Given the description of an element on the screen output the (x, y) to click on. 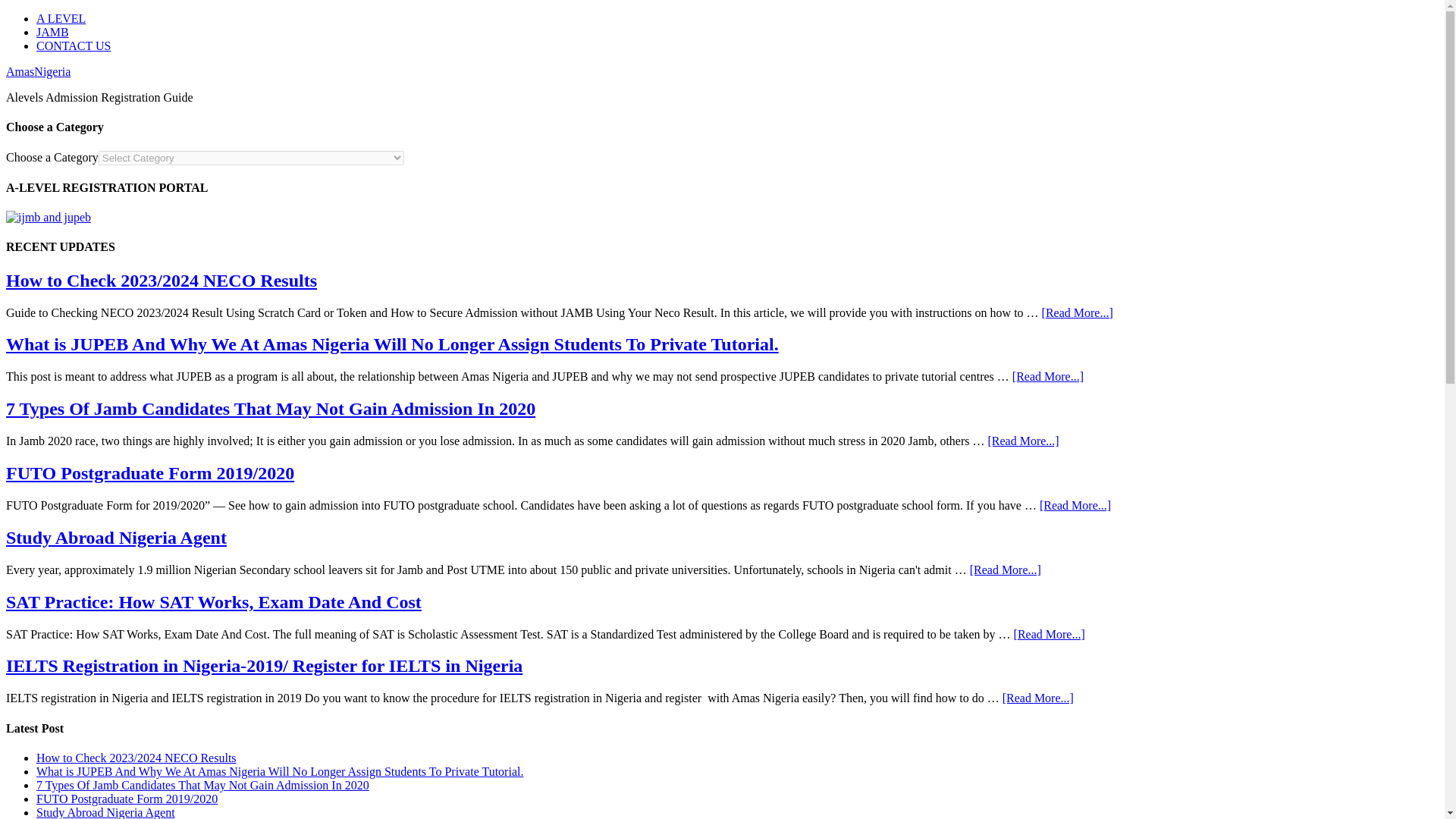
Study Abroad Nigeria Agent (105, 812)
JAMB (52, 31)
SAT Practice: How SAT Works, Exam Date And Cost (213, 601)
A LEVEL (60, 18)
Study Abroad Nigeria Agent (116, 537)
AmasNigeria (37, 71)
CONTACT US (73, 45)
